Given the description of an element on the screen output the (x, y) to click on. 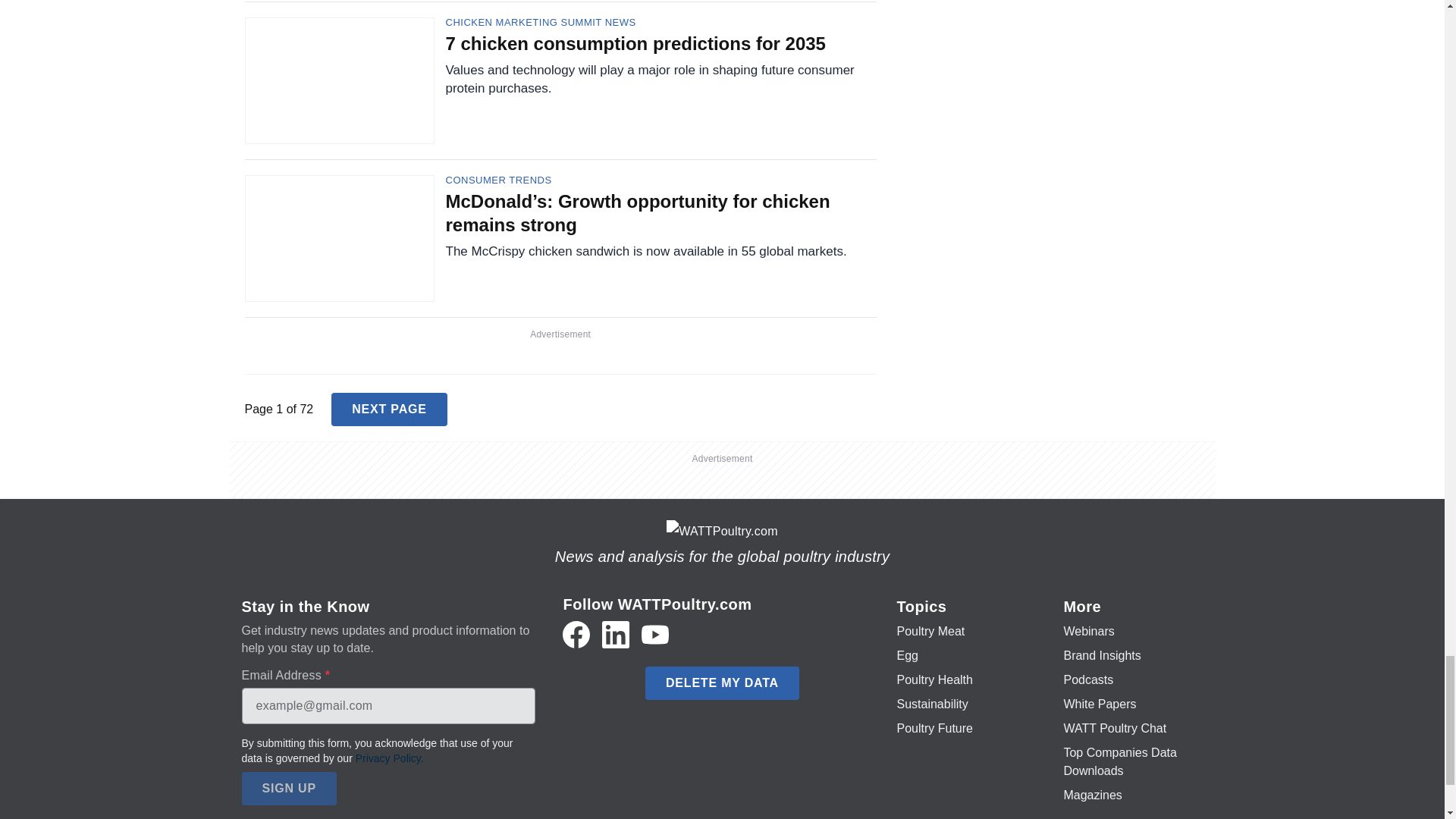
YouTube icon (655, 634)
LinkedIn icon (615, 634)
Facebook icon (575, 634)
